Given the description of an element on the screen output the (x, y) to click on. 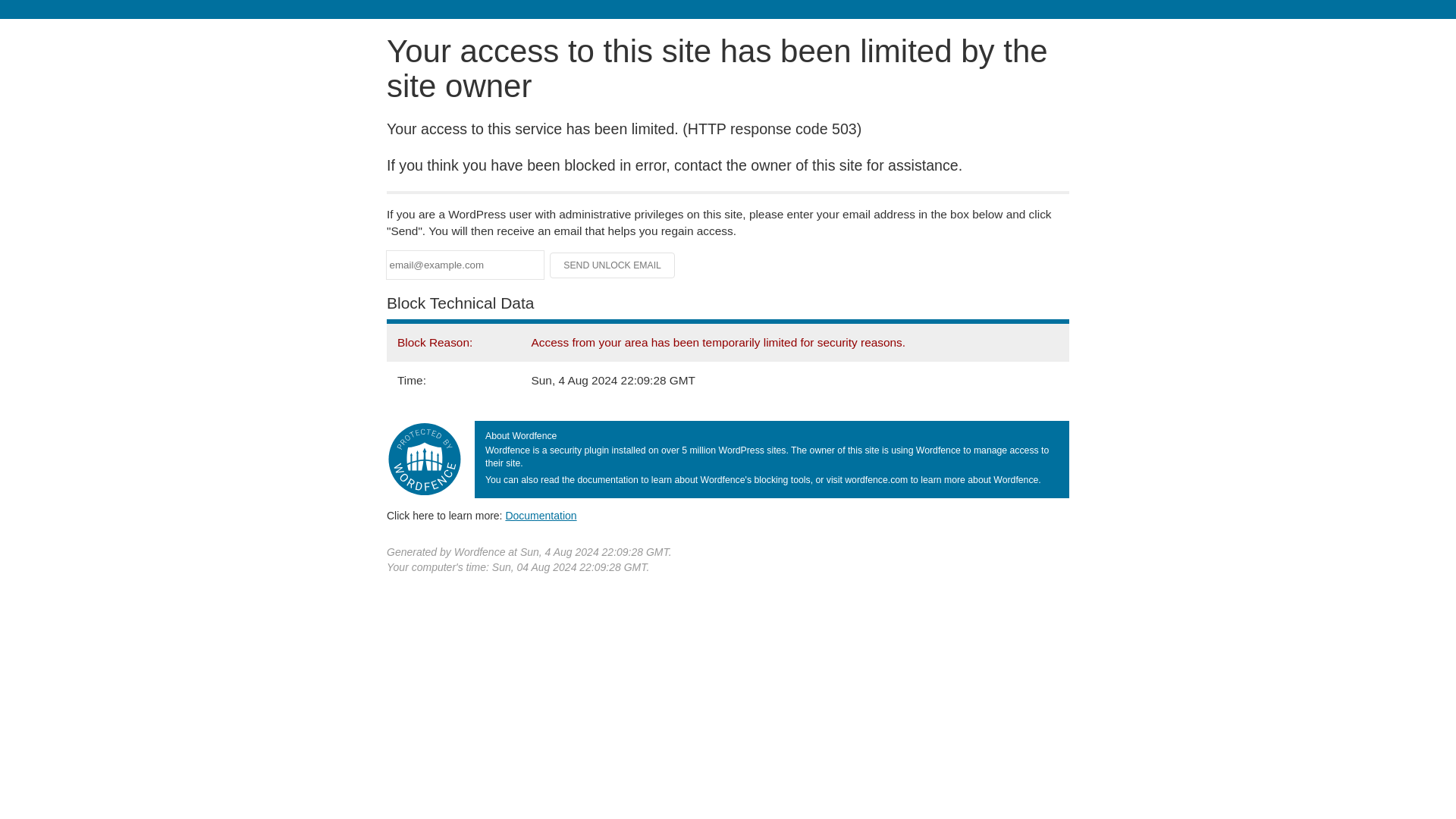
Send Unlock Email (612, 265)
Send Unlock Email (612, 265)
Documentation (540, 515)
